Given the description of an element on the screen output the (x, y) to click on. 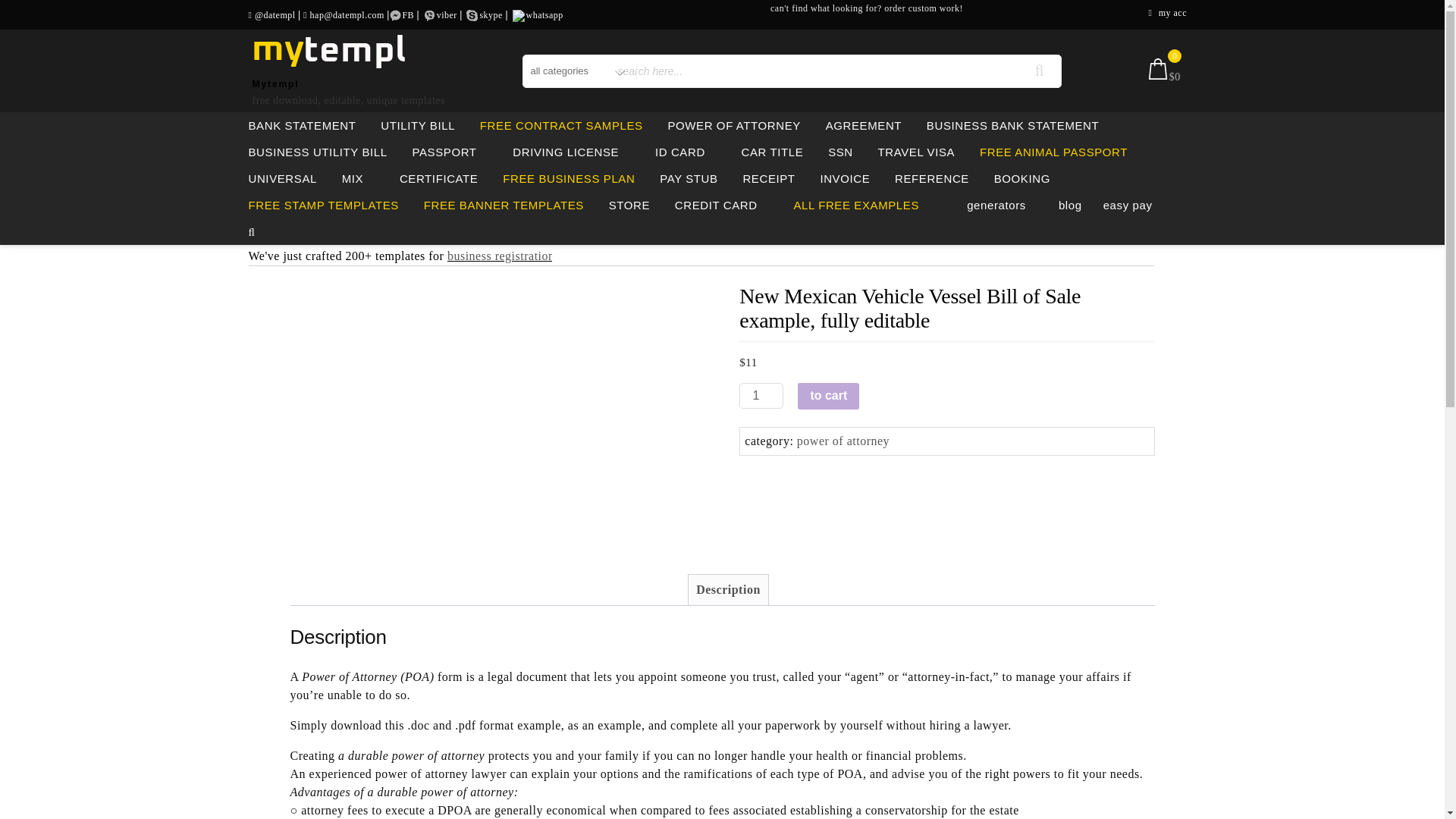
1 (761, 395)
whatsapp (544, 14)
my acc (1172, 14)
Cart View (1162, 76)
skype (490, 14)
Mytempl (274, 83)
viber (446, 14)
FB (407, 14)
